Given the description of an element on the screen output the (x, y) to click on. 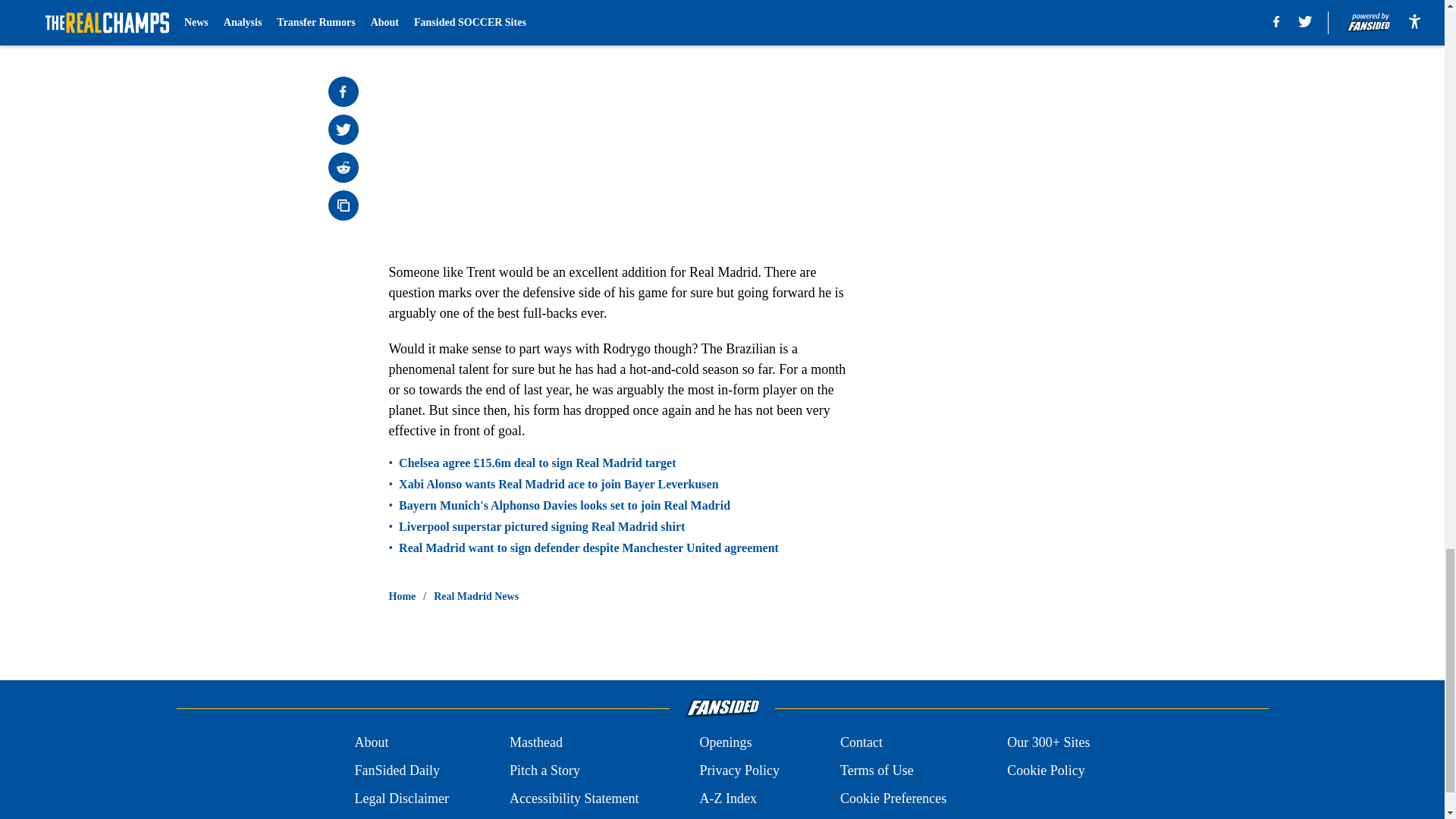
Xabi Alonso wants Real Madrid ace to join Bayer Leverkusen (557, 484)
Real Madrid News (475, 596)
Openings (724, 742)
Terms of Use (877, 770)
Masthead (535, 742)
Contact (861, 742)
About (370, 742)
FanSided Daily (396, 770)
Pitch a Story (544, 770)
Liverpool superstar pictured signing Real Madrid shirt (541, 526)
Cookie Policy (1045, 770)
Home (401, 596)
Privacy Policy (738, 770)
